Given the description of an element on the screen output the (x, y) to click on. 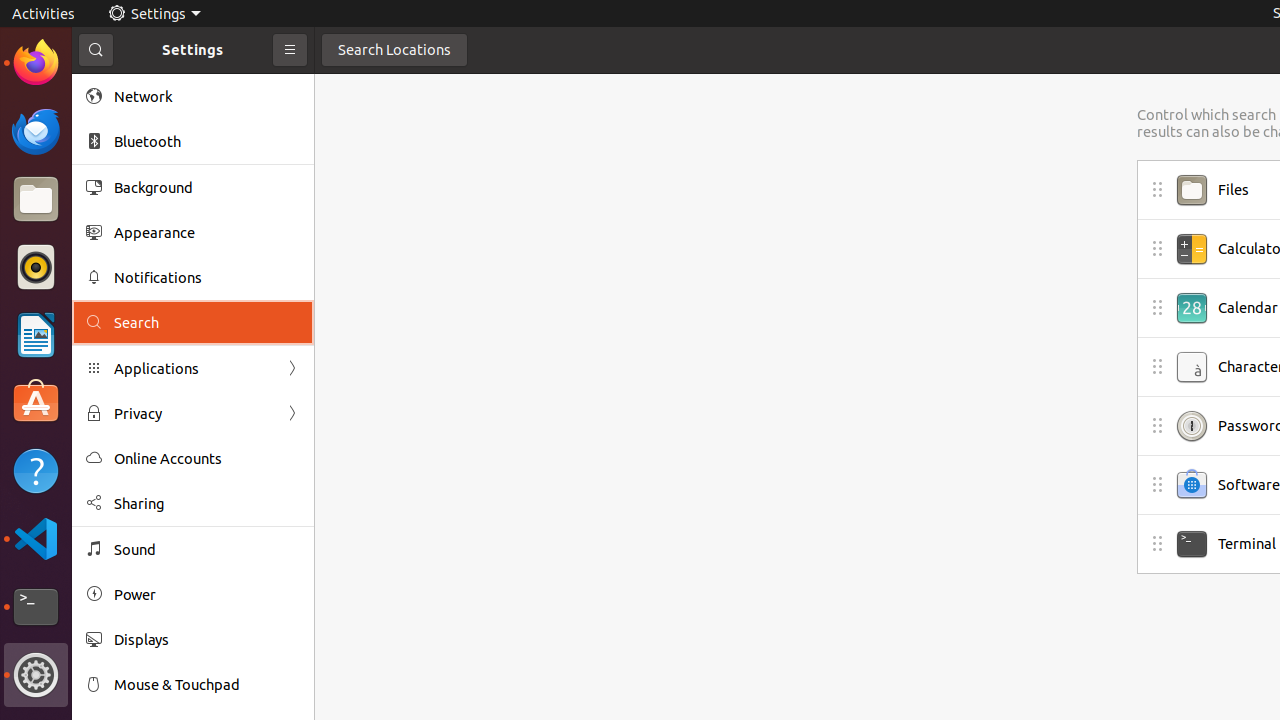
IsaHelpMain.desktop Element type: label (133, 300)
Appearance Element type: label (207, 232)
Displays Element type: label (207, 639)
Sharing Element type: label (207, 503)
